Given the description of an element on the screen output the (x, y) to click on. 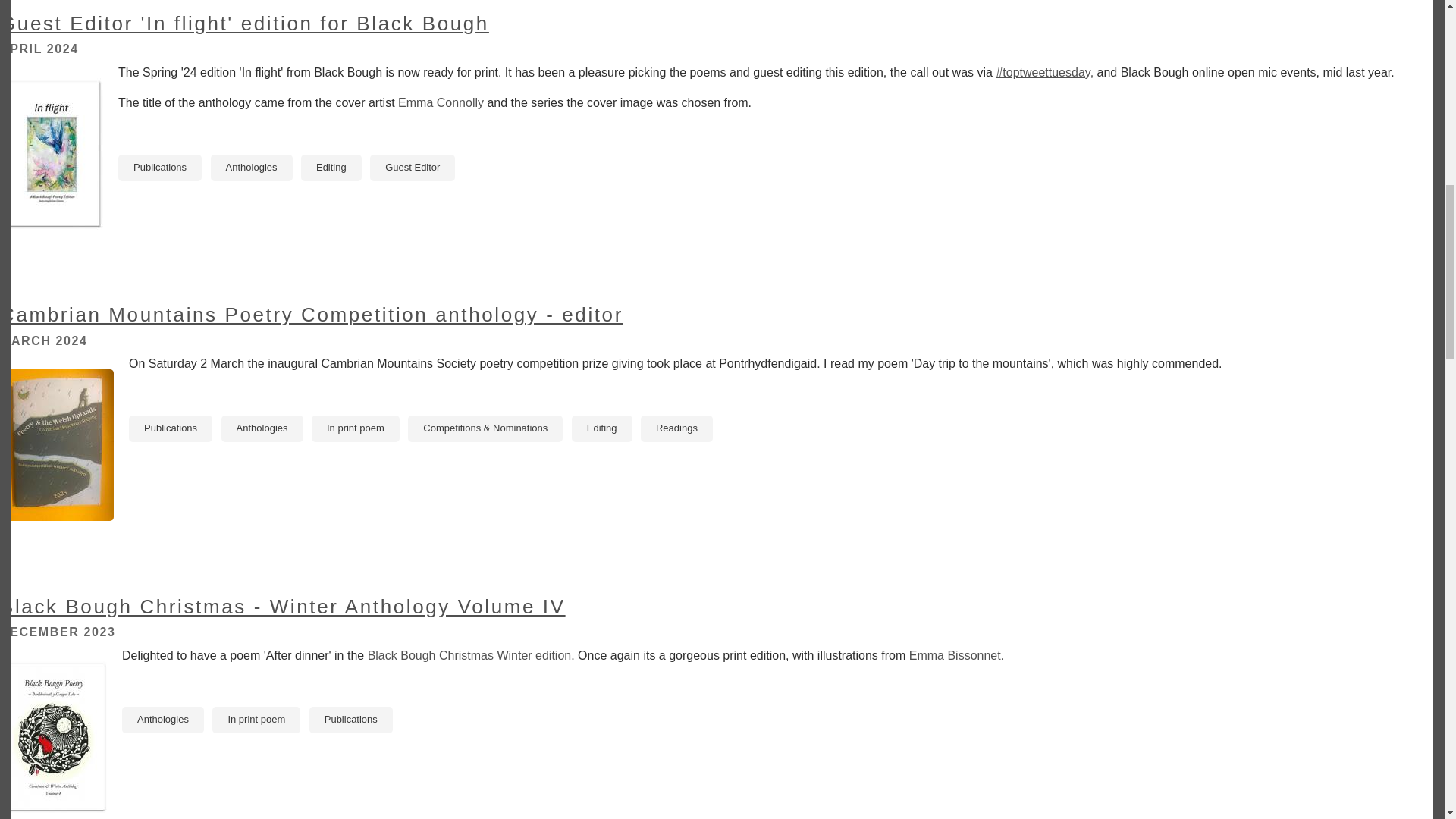
Guest Editor 'In flight' edition for Black Bough (244, 23)
